Given the description of an element on the screen output the (x, y) to click on. 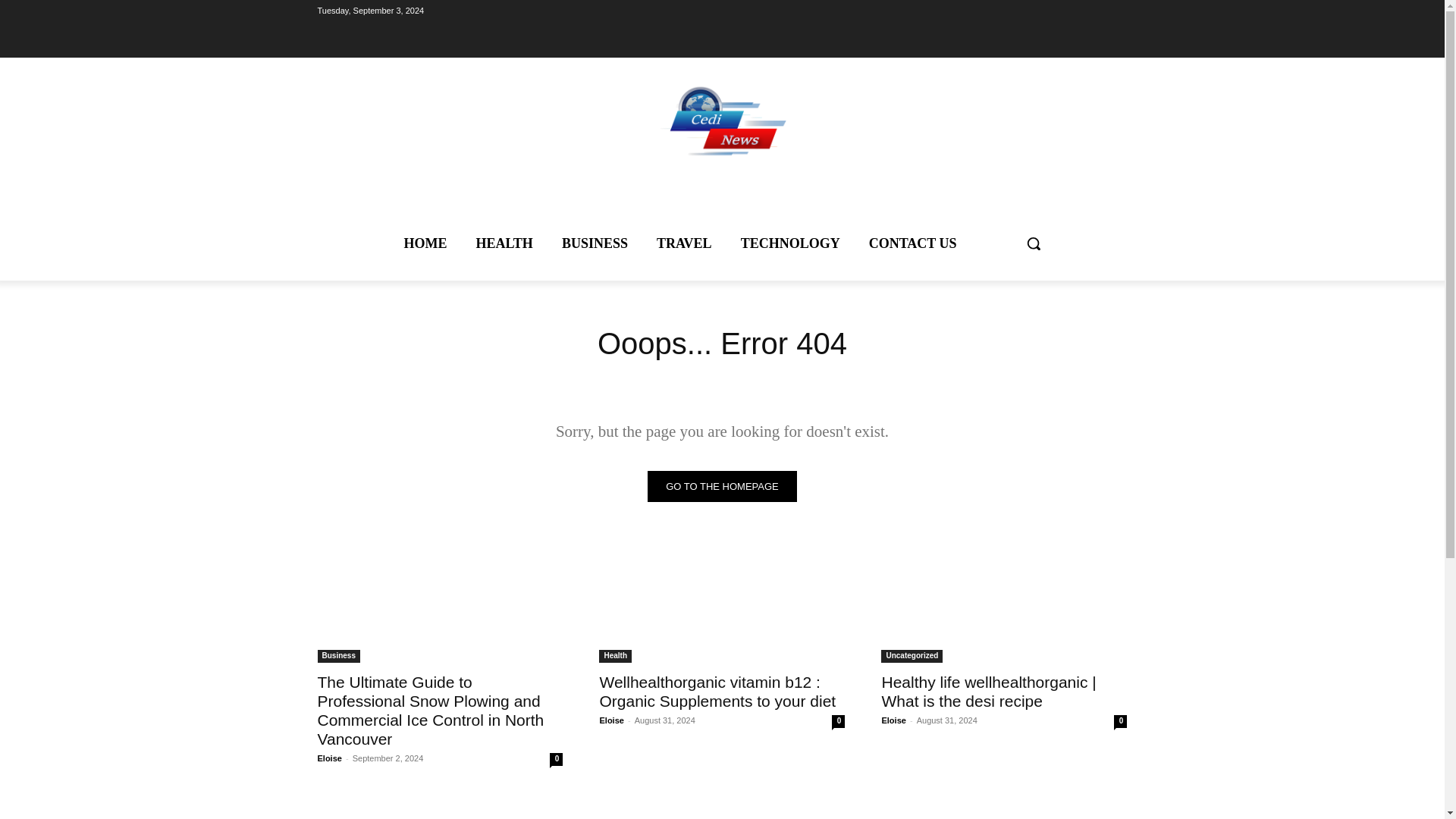
BUSINESS (595, 243)
HEALTH (504, 243)
Skin Care In Hindi Wellhealthorganic (439, 806)
CONTACT US (913, 243)
Uncategorized (911, 656)
0 (1119, 721)
